Given the description of an element on the screen output the (x, y) to click on. 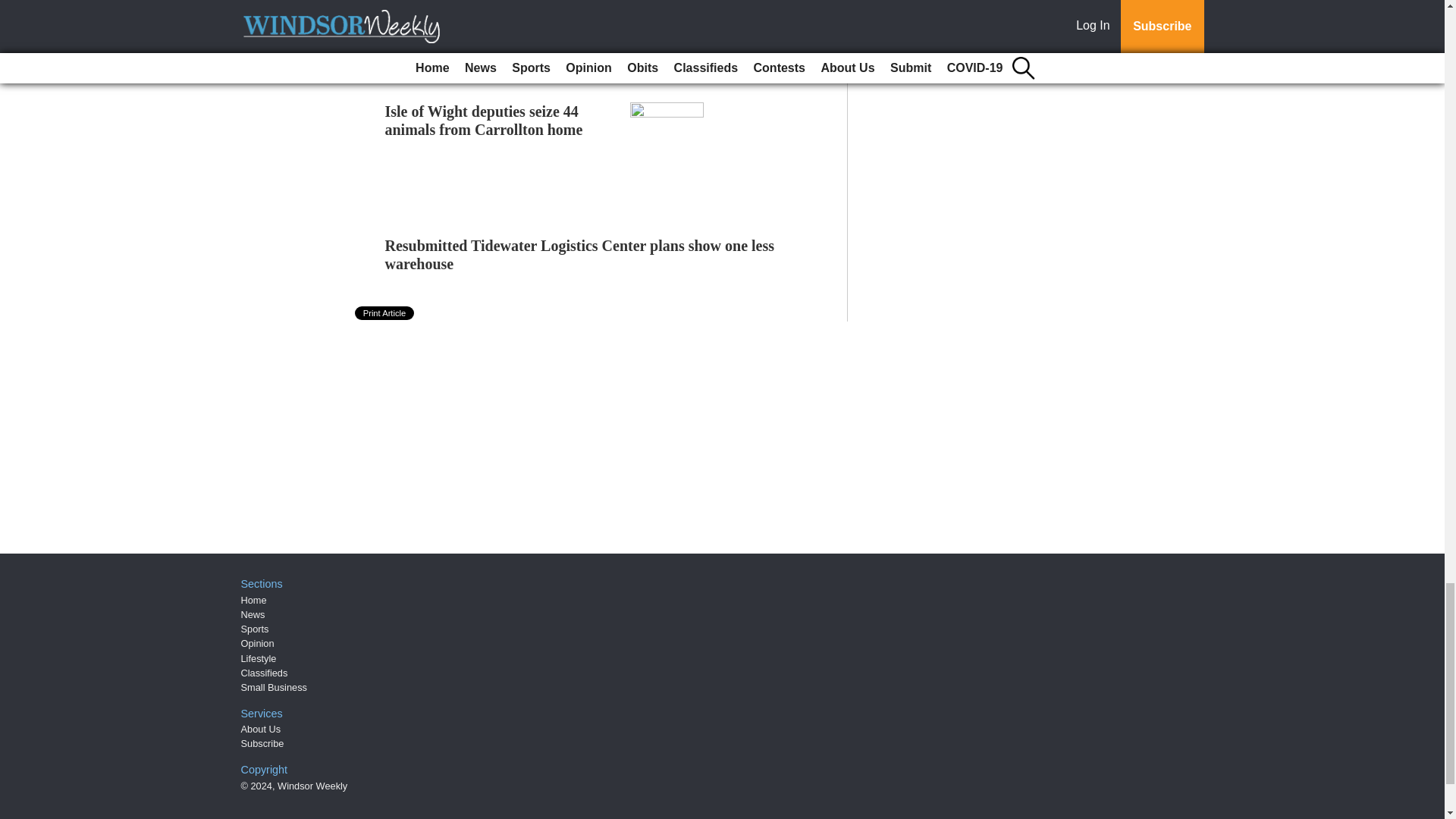
Lifestyle (258, 658)
Small Business (274, 686)
Sports (255, 628)
Classifieds (264, 672)
Isle of Wight deputies seize 44 animals from Carrollton home (484, 120)
News (252, 614)
Isle of Wight deputies seize 44 animals from Carrollton home (484, 120)
Home (253, 600)
About Us (261, 728)
Opinion (258, 643)
Subscribe (262, 743)
Beardtongue: a native asset  to any garden (496, 1)
Print Article (384, 313)
